Given the description of an element on the screen output the (x, y) to click on. 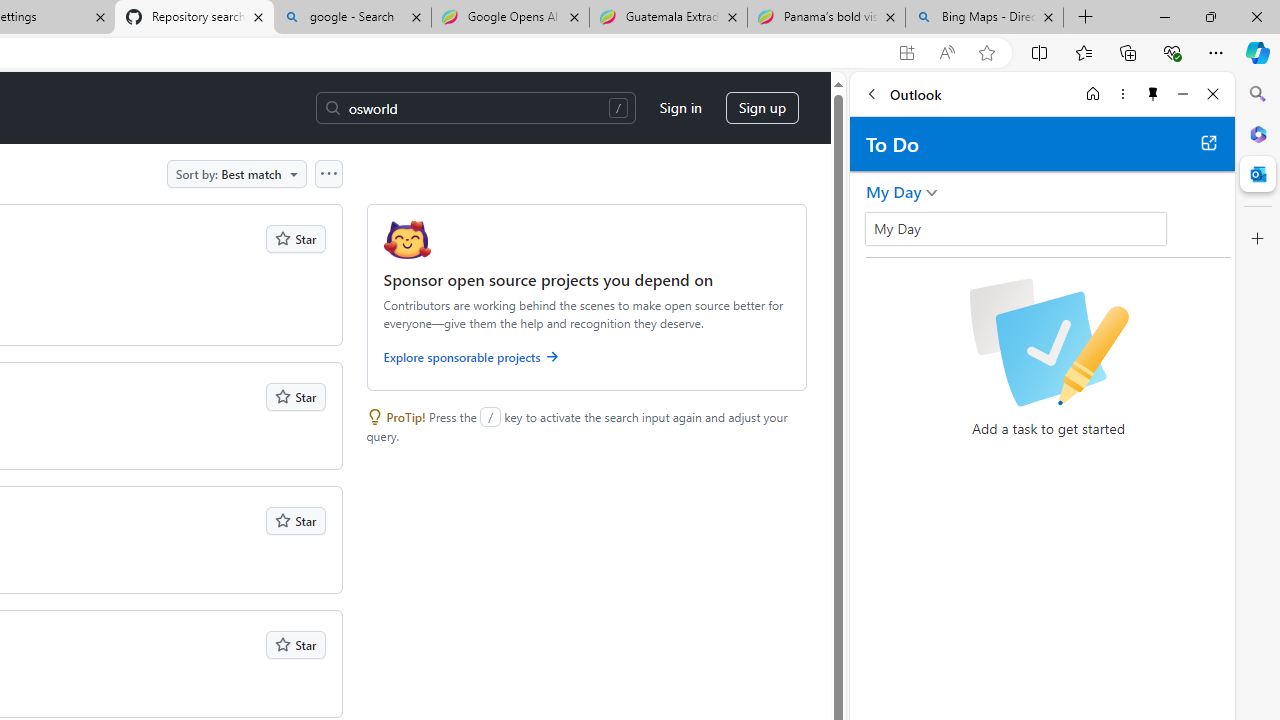
Open column options (328, 173)
Checkbox with a pencil (1047, 342)
Explore sponsorable projects (585, 360)
google - Search (352, 17)
Class: wL_Ii70haOUOvHnsRwbD (1016, 228)
Unpin side pane (1153, 93)
App available. Install GitHub (906, 53)
